Given the description of an element on the screen output the (x, y) to click on. 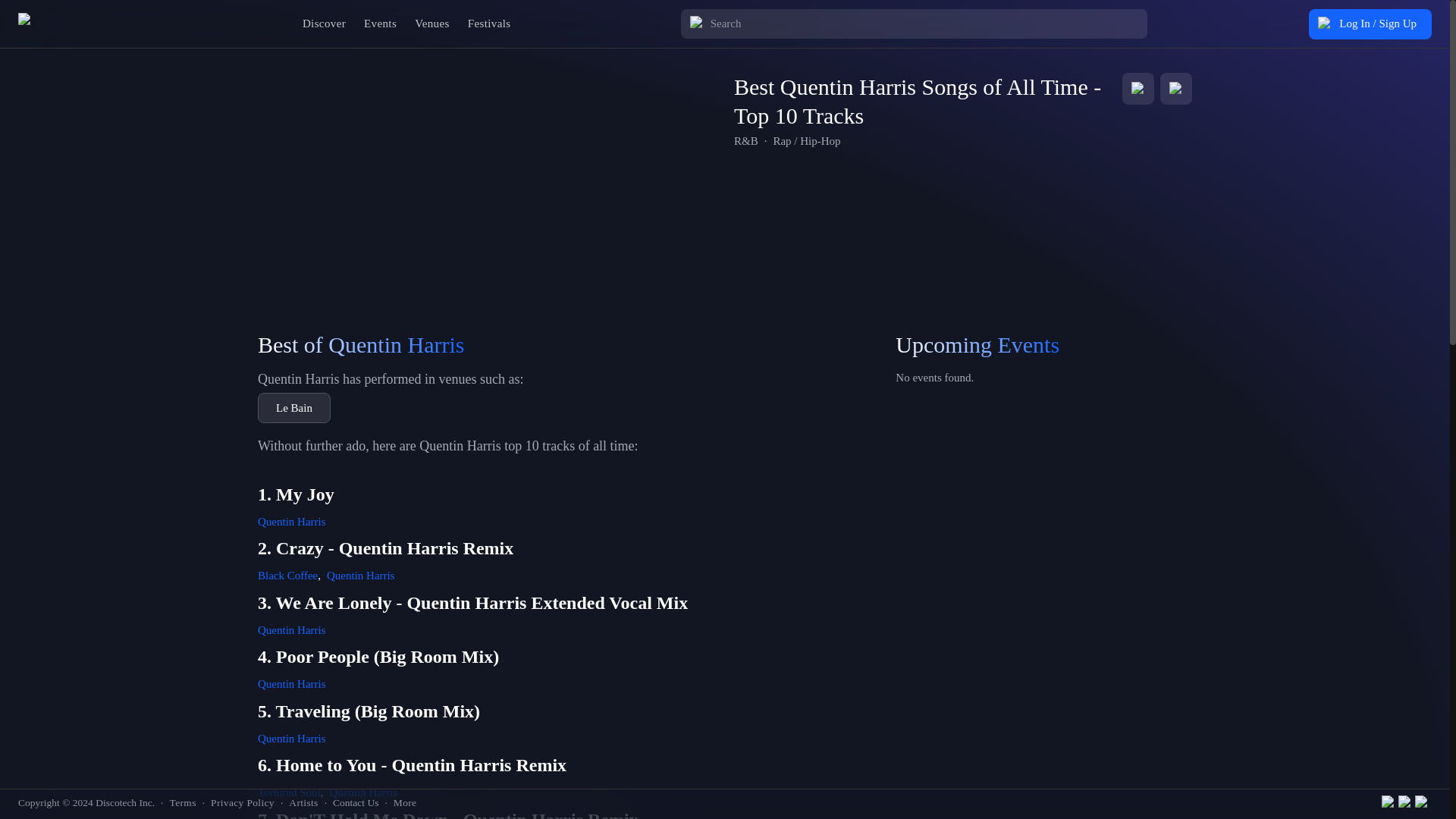
Terms (181, 802)
Tortured Soul (288, 792)
Black Coffee (287, 575)
Quentin Harris (363, 792)
Events (380, 23)
Festivals (488, 23)
Discover (324, 23)
Privacy Policy (243, 802)
Quentin Harris (291, 521)
Le Bain (293, 408)
Quentin Harris (360, 575)
More (404, 802)
Quentin Harris (291, 630)
Quentin Harris (291, 738)
Venues (432, 23)
